Given the description of an element on the screen output the (x, y) to click on. 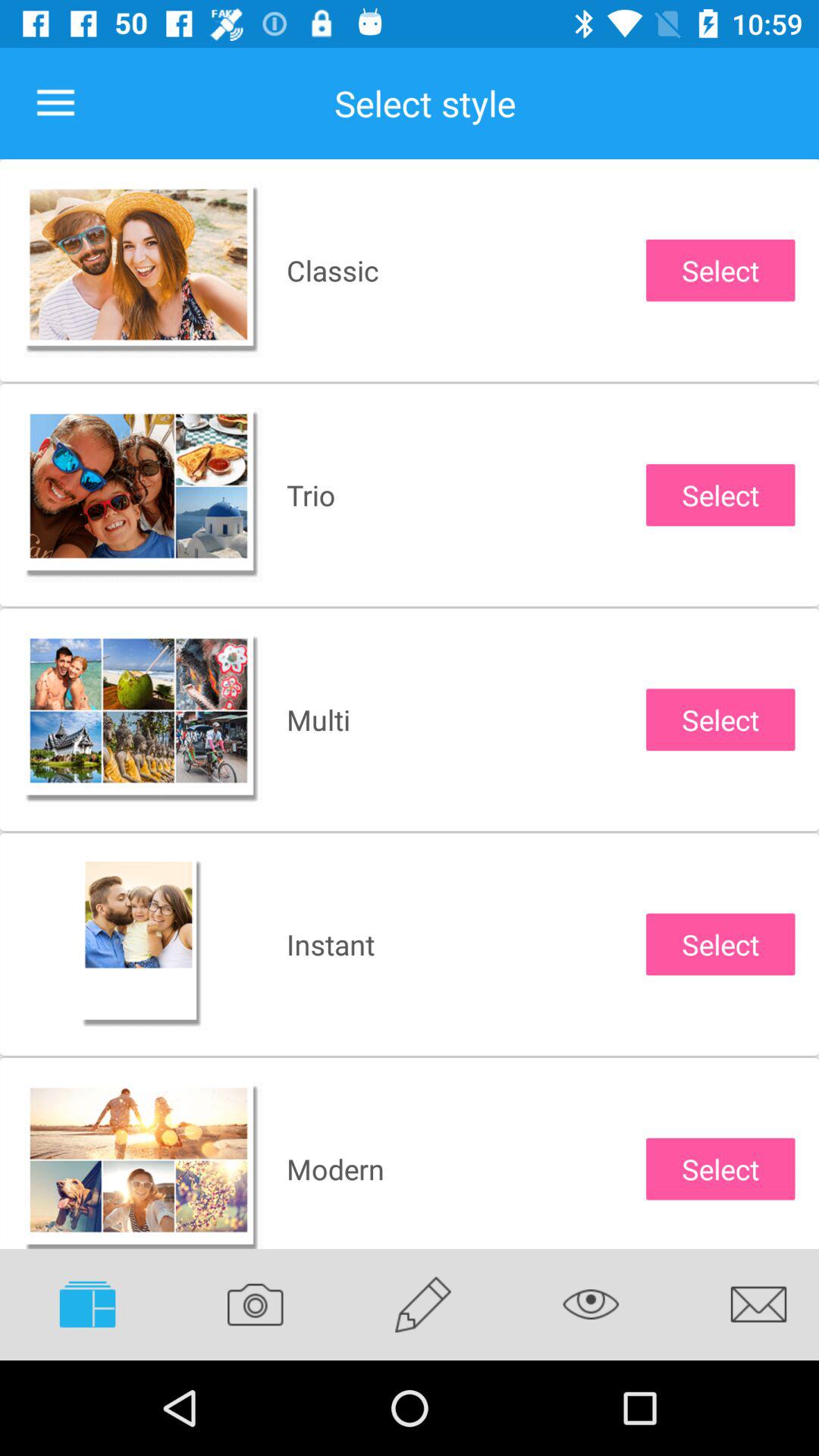
select icon to the left of the select style (55, 103)
